Given the description of an element on the screen output the (x, y) to click on. 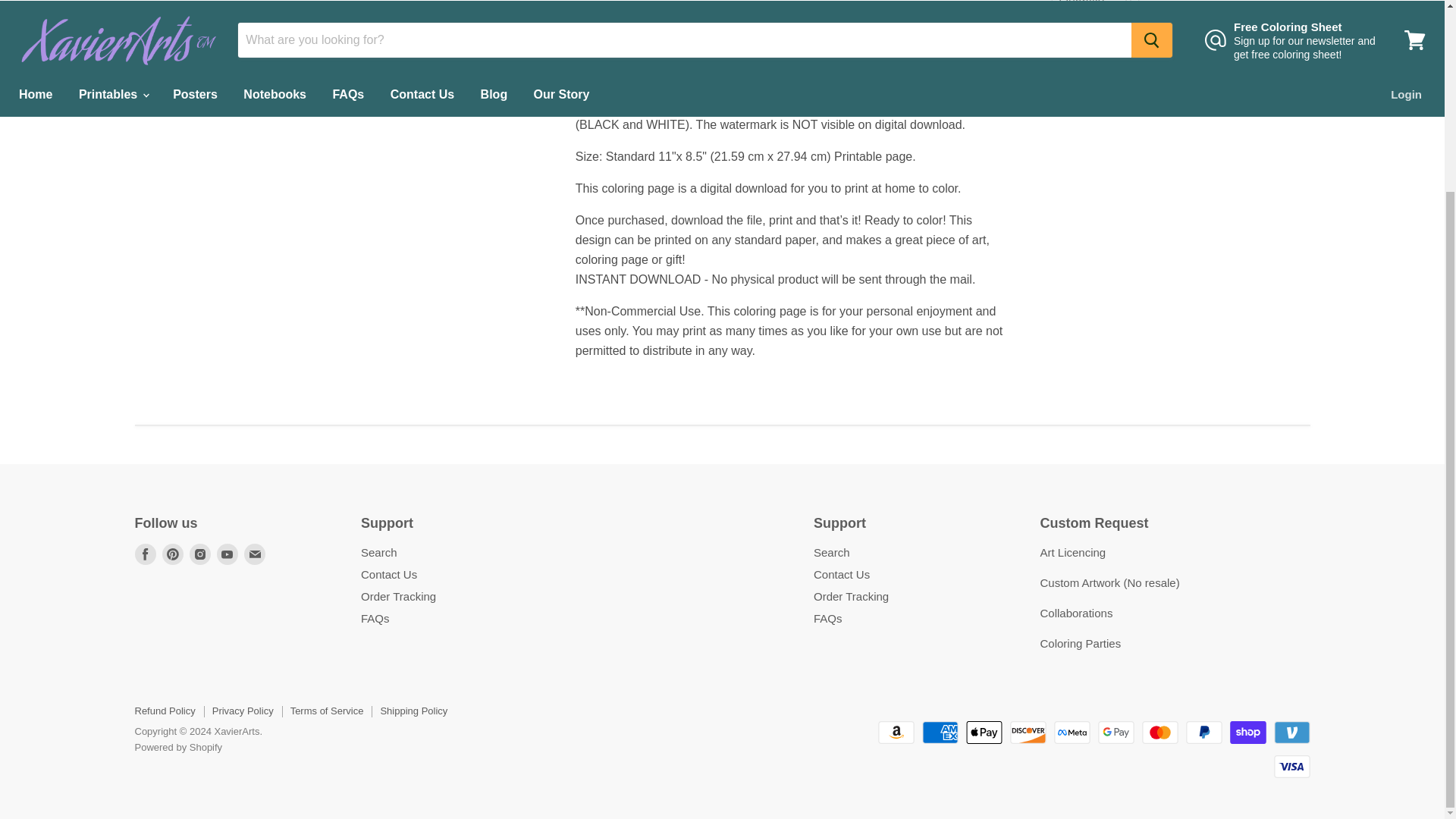
Pinterest (172, 554)
Shop Pay (1248, 732)
Youtube (227, 554)
Apple Pay (984, 732)
Meta Pay (1072, 732)
Facebook (145, 554)
Mastercard (1159, 732)
Amazon (895, 732)
Instagram (200, 554)
American Express (939, 732)
Email (254, 554)
Google Pay (1115, 732)
Discover (1028, 732)
PayPal (1204, 732)
